Given the description of an element on the screen output the (x, y) to click on. 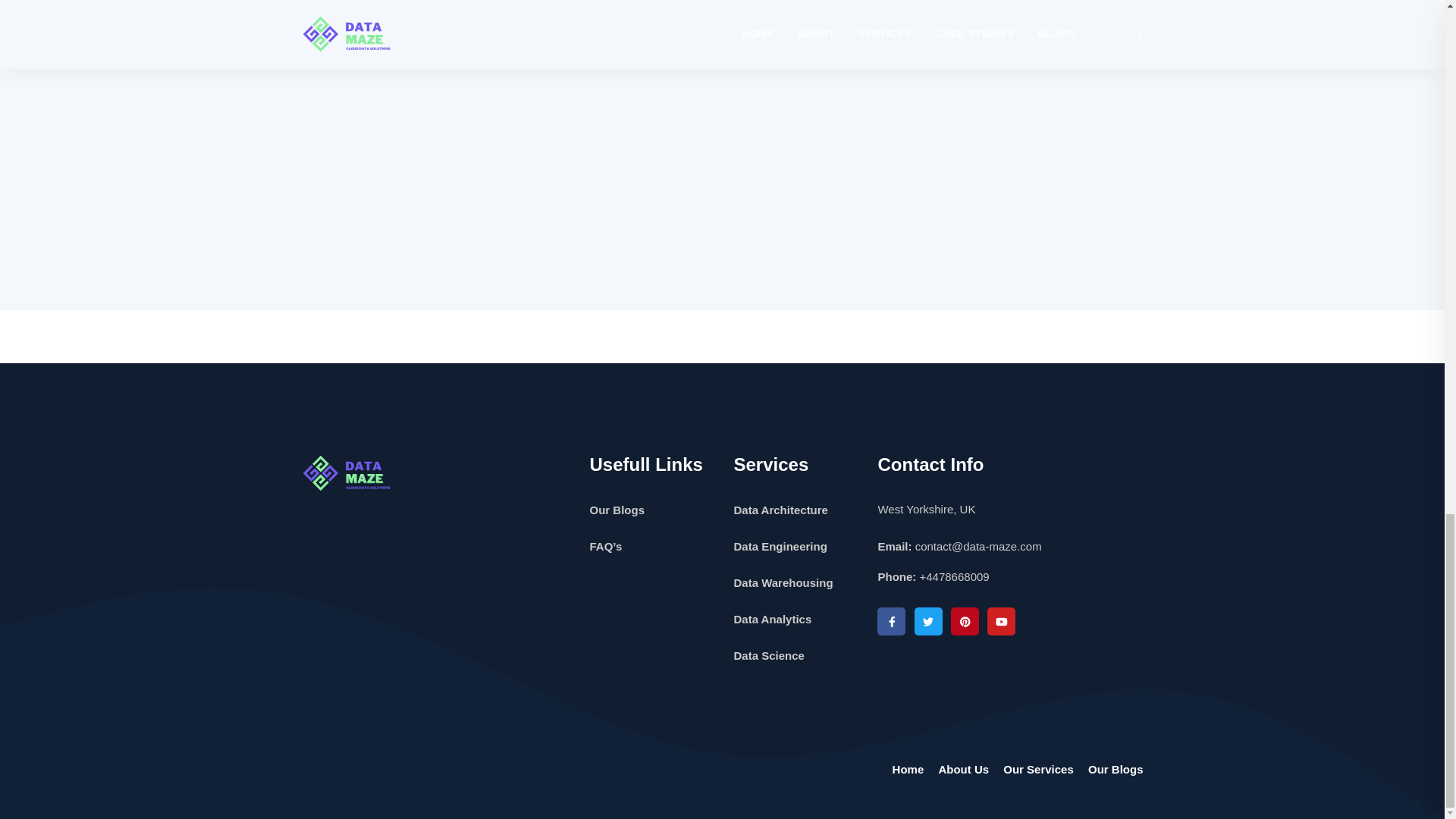
Data Science (768, 655)
Data Architecture (780, 509)
Data Engineering (780, 546)
Data Analytics (771, 619)
Home (908, 768)
About Us (962, 768)
Our Blogs (617, 509)
Data Warehousing (782, 582)
Our Blogs (1114, 768)
Our Services (1038, 768)
